Given the description of an element on the screen output the (x, y) to click on. 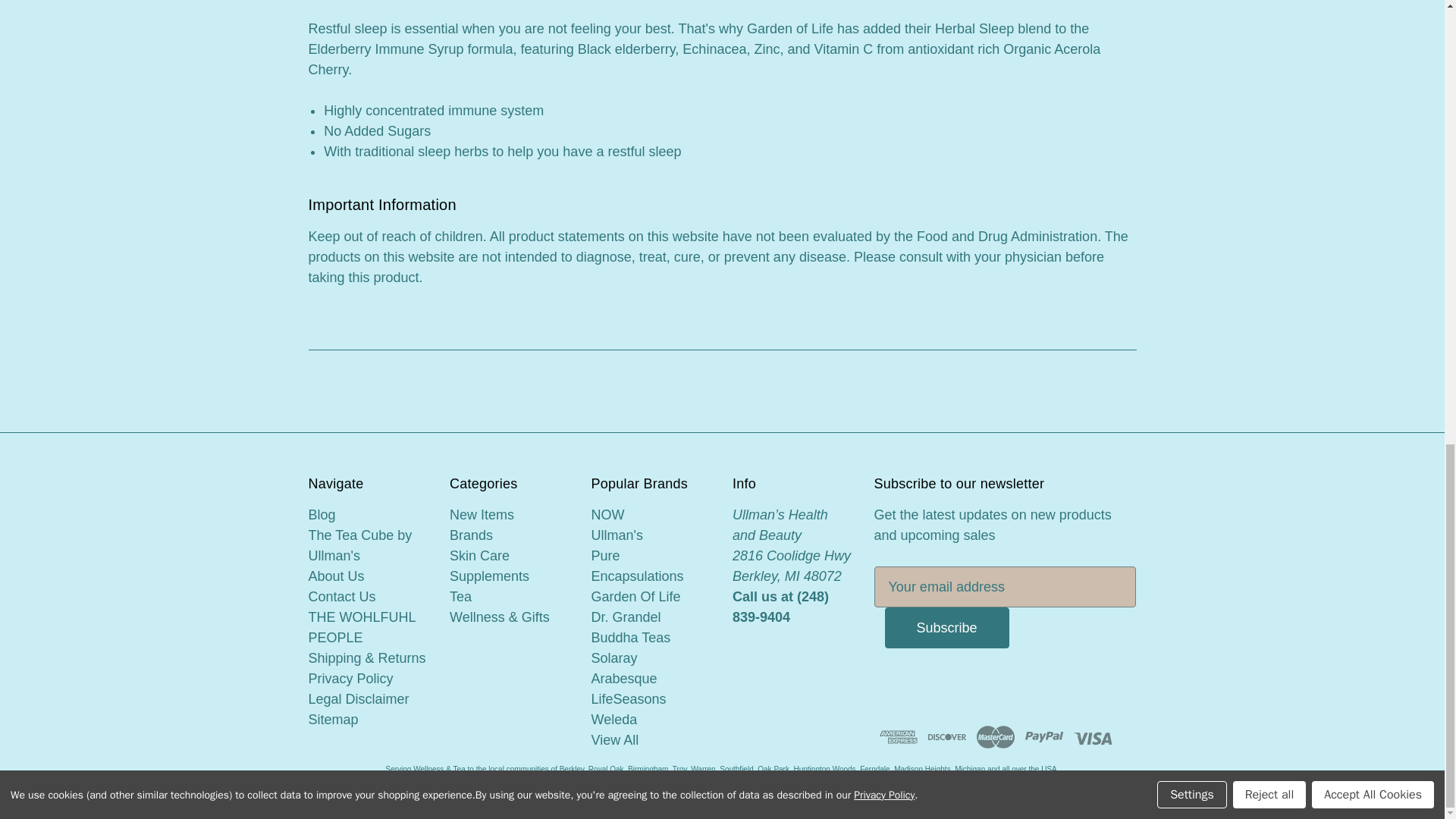
Subscribe (946, 627)
